Given the description of an element on the screen output the (x, y) to click on. 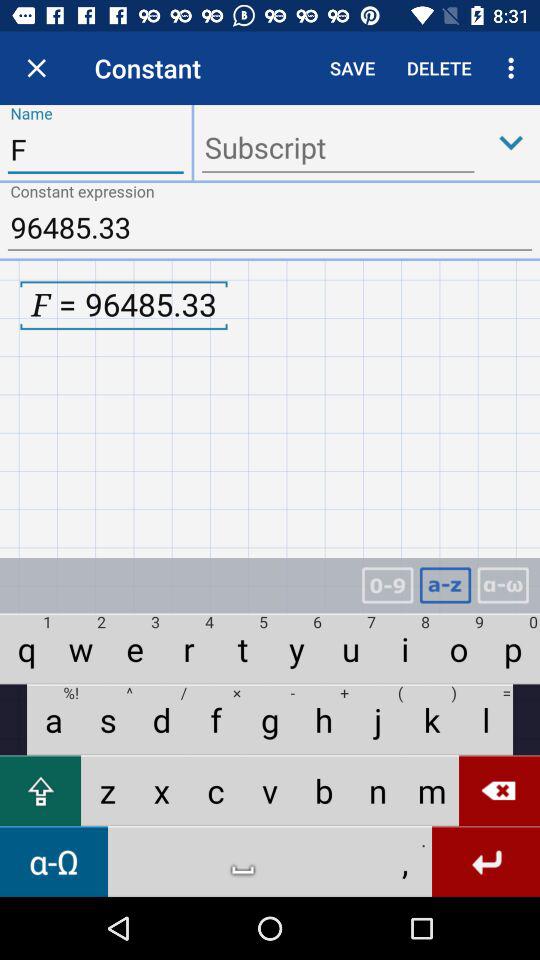
download option (511, 142)
